Given the description of an element on the screen output the (x, y) to click on. 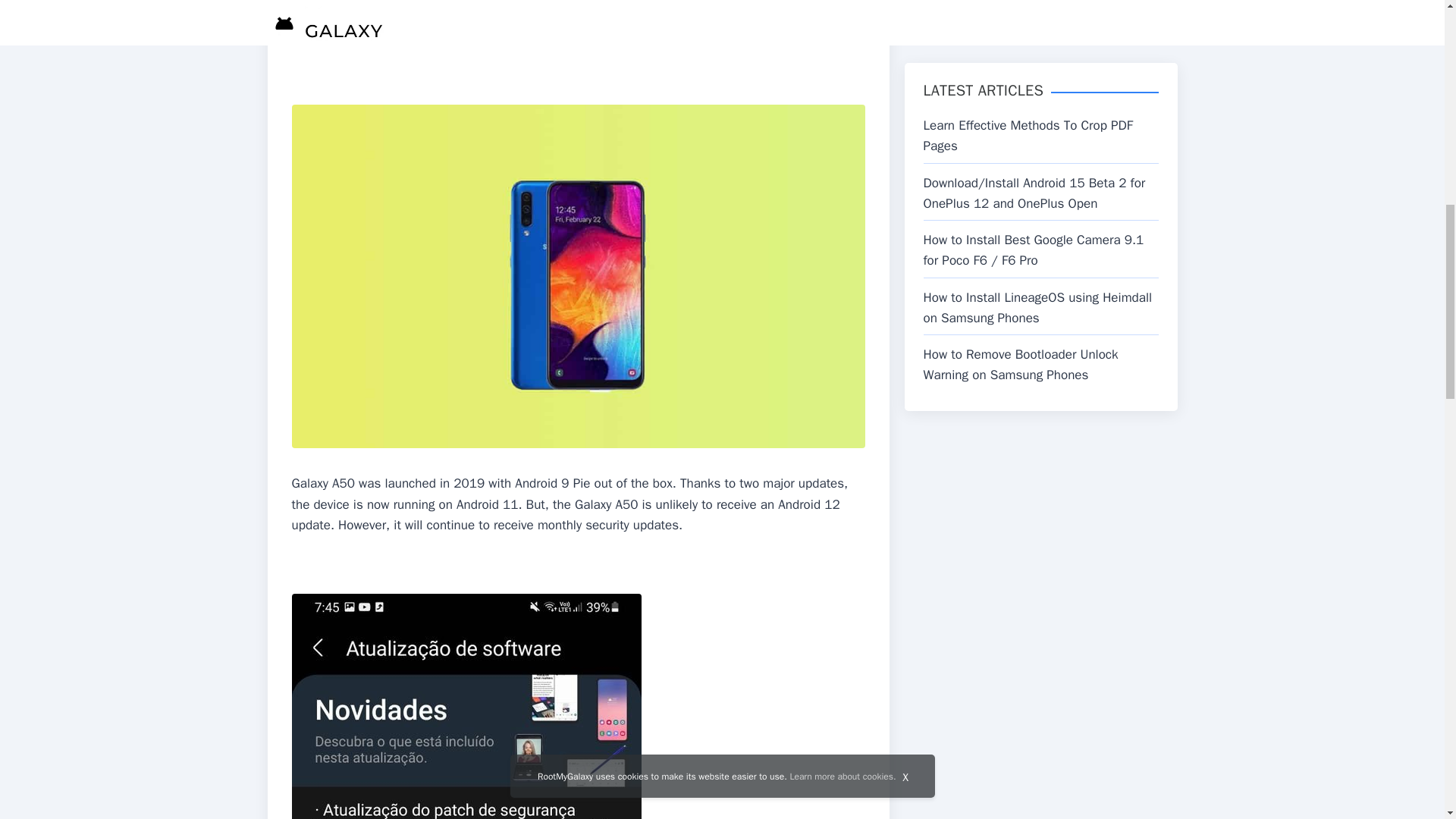
Advertisement (577, 48)
